Given the description of an element on the screen output the (x, y) to click on. 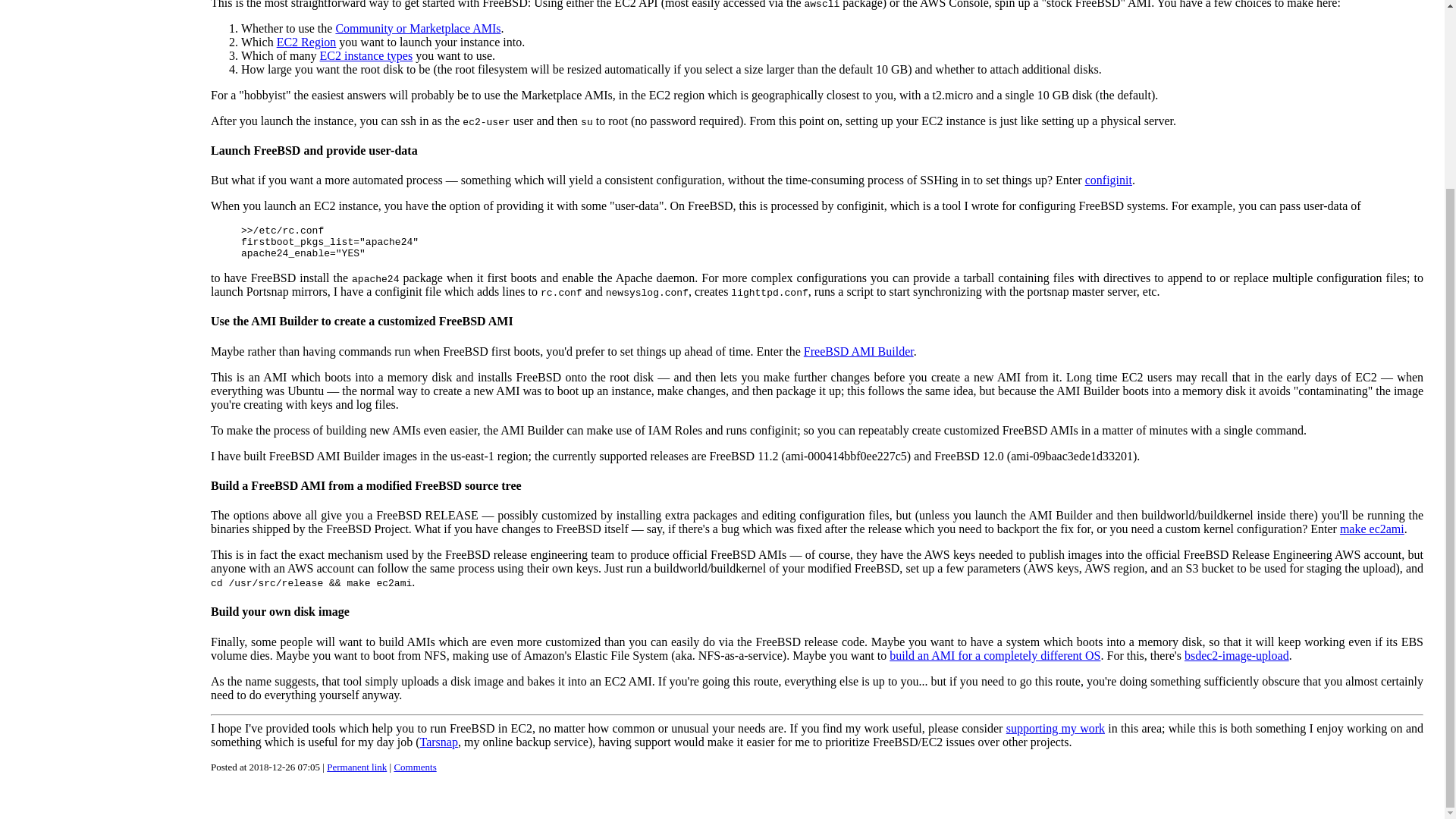
supporting my work (1055, 727)
make ec2ami (1372, 528)
configinit (1108, 179)
bsdec2-image-upload (1236, 655)
Comments (414, 767)
Community or Marketplace AMIs (417, 28)
FreeBSD AMI Builder (858, 350)
build an AMI for a completely different OS (994, 655)
EC2 Region (306, 42)
EC2 instance types (366, 55)
